Given the description of an element on the screen output the (x, y) to click on. 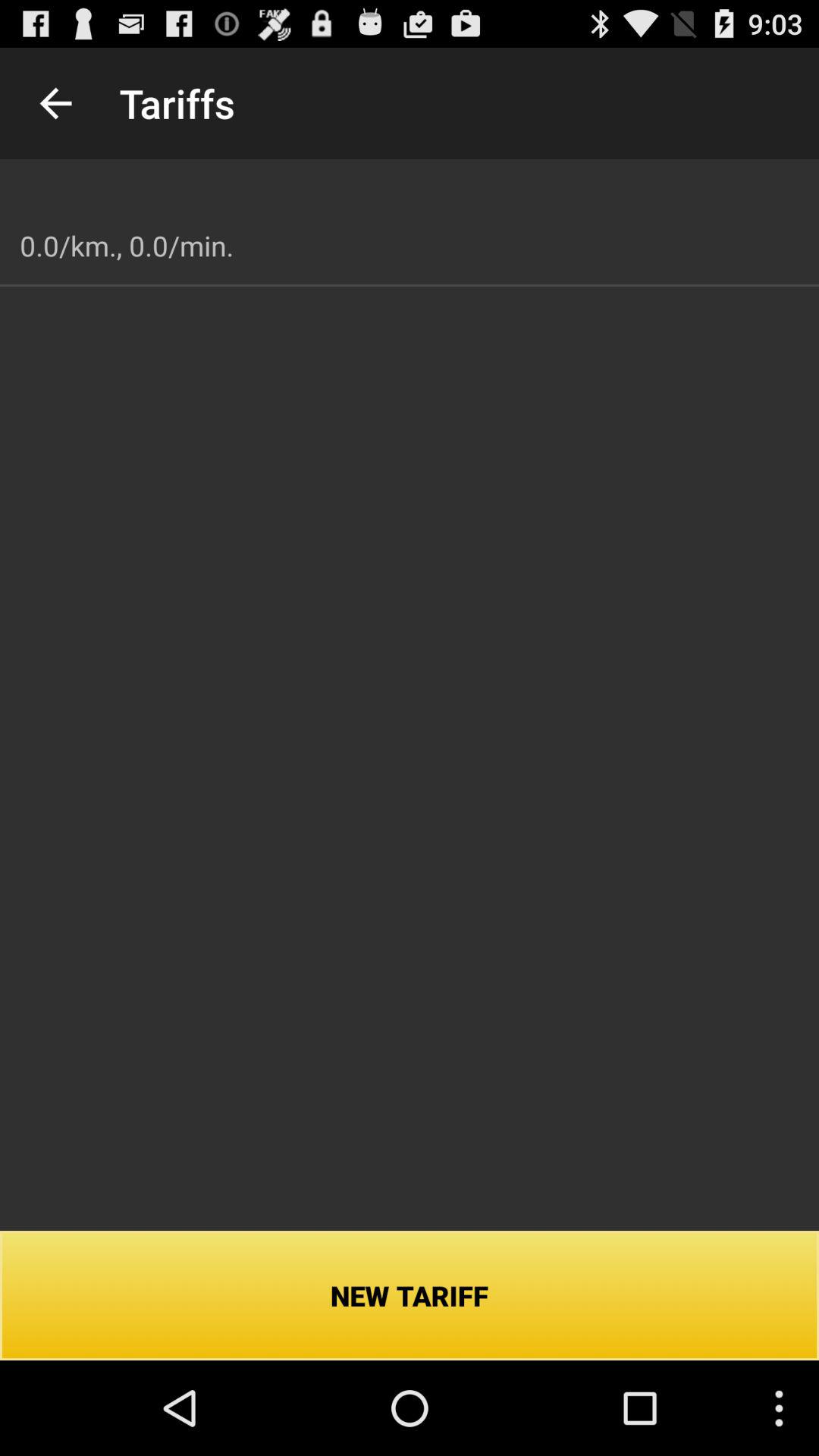
select the 0 0 km item (126, 245)
